Given the description of an element on the screen output the (x, y) to click on. 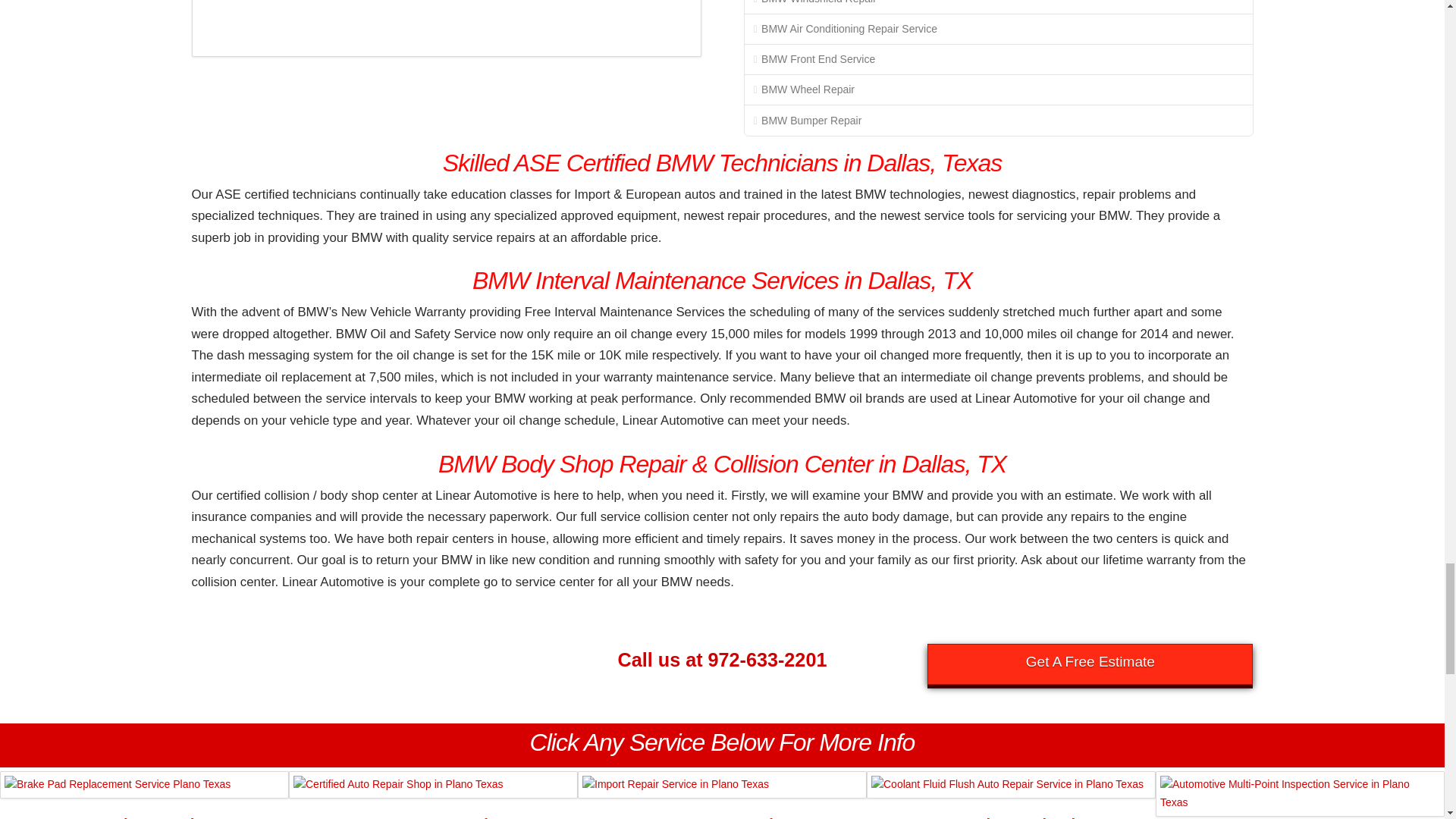
Coolant Fluid Flush Auto Repair Service in Plano Texas (1011, 784)
Automotive Multi-Point Inspection Service in Plano Texas (1300, 793)
Import Repair Service in Plano Texas (722, 784)
Brake Pad Replacement Service Plano Texas (144, 784)
Certified Auto Repair Shop in Plano Texas (433, 784)
